Given the description of an element on the screen output the (x, y) to click on. 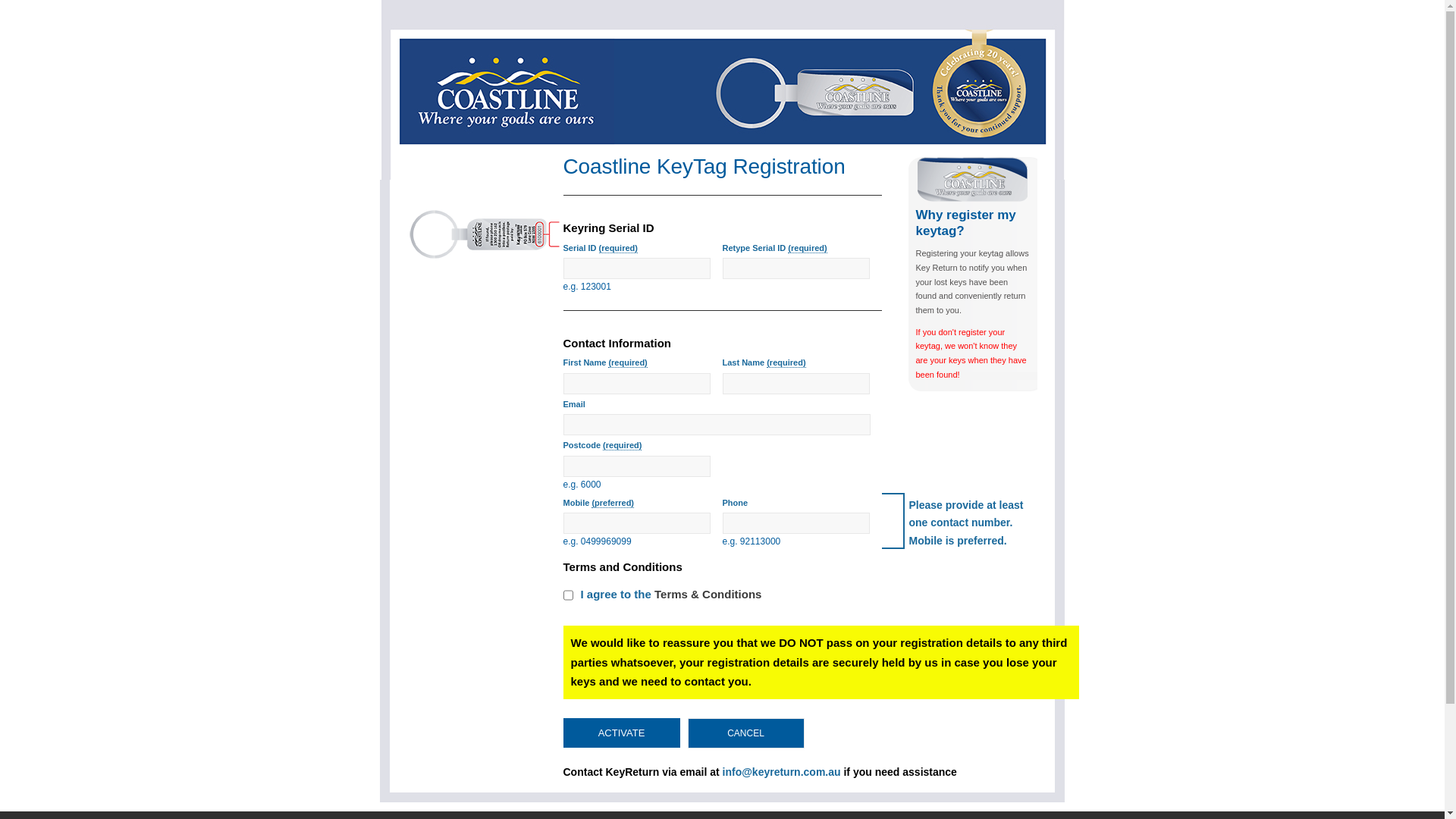
Terms & Conditions Element type: text (707, 593)
info@keyreturn.com.au Element type: text (781, 771)
Cancel Element type: text (745, 733)
Activate Element type: text (620, 733)
